Given the description of an element on the screen output the (x, y) to click on. 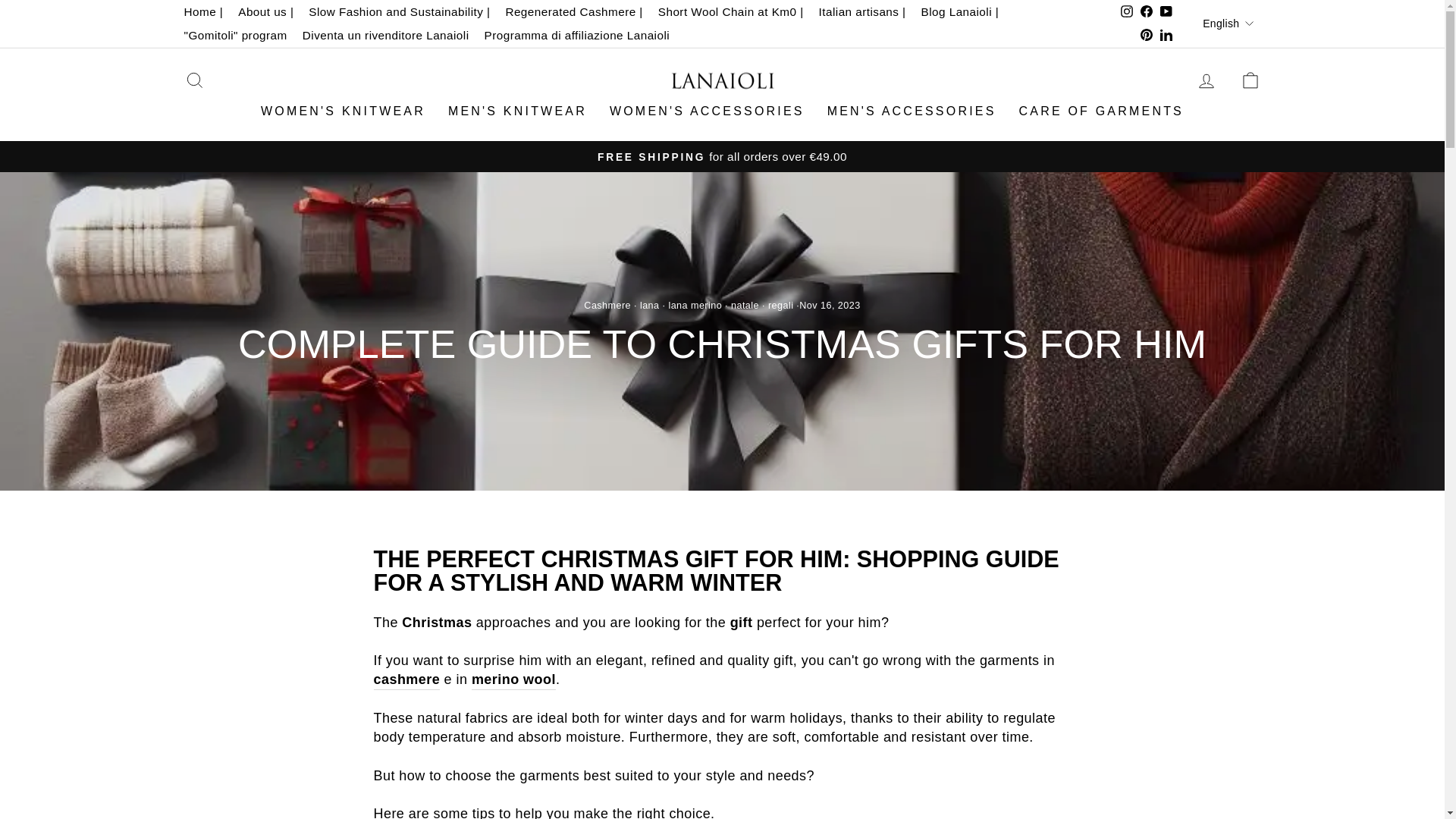
instagram (1126, 10)
ACCOUNT (1206, 80)
ICON-SEARCH (194, 79)
"Gomitoli" program (235, 34)
Programma di affiliazione Lanaioli (577, 34)
Diventa un rivenditore Lanaioli (386, 34)
ICON-BAG-MINIMAL (1249, 79)
